Given the description of an element on the screen output the (x, y) to click on. 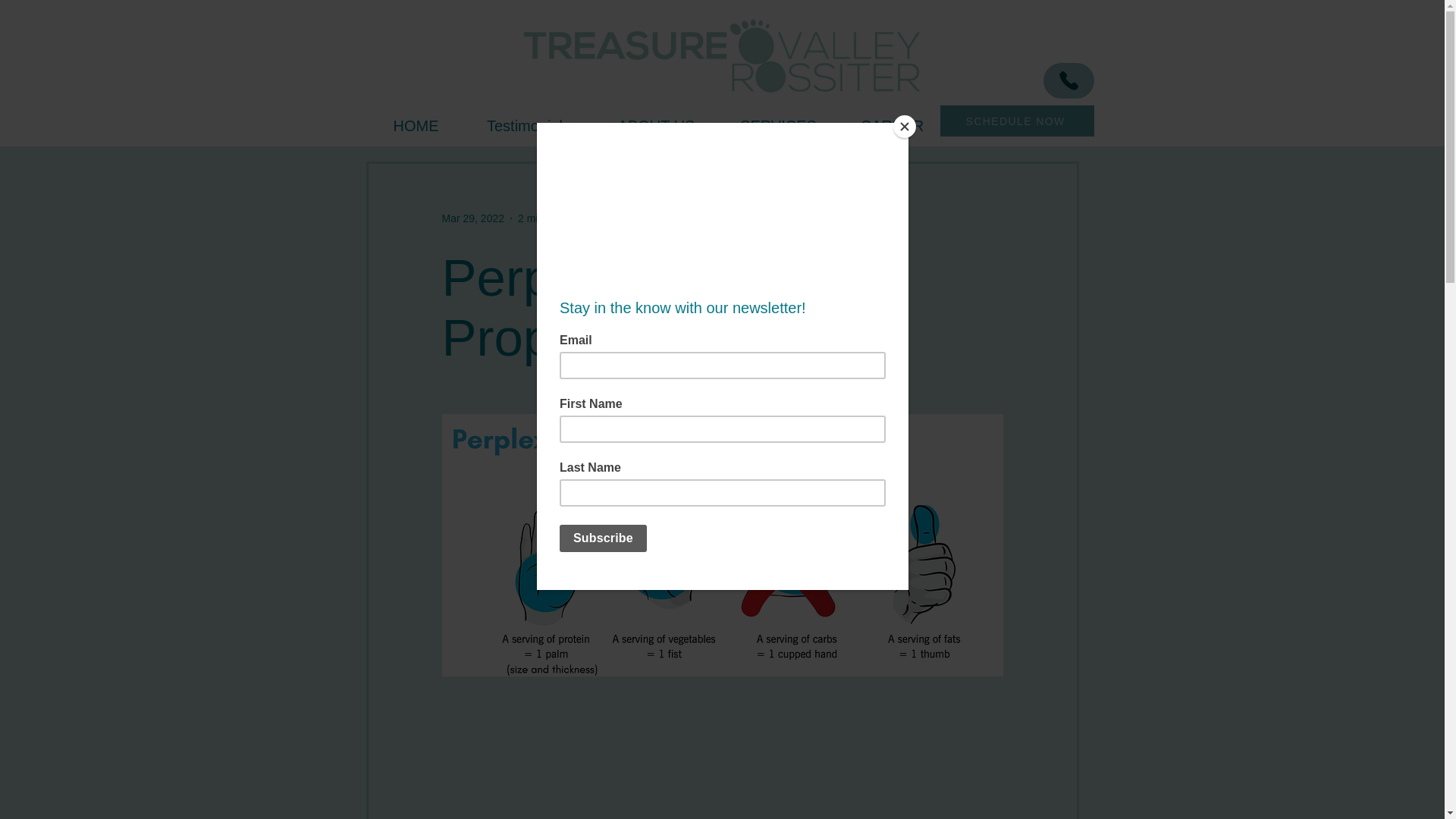
Testimonials (528, 125)
CAREER (892, 125)
2 min read (542, 218)
Mar 29, 2022 (472, 218)
ABOUT US (656, 125)
SCHEDULE NOW (1017, 120)
HOME (415, 125)
